Given the description of an element on the screen output the (x, y) to click on. 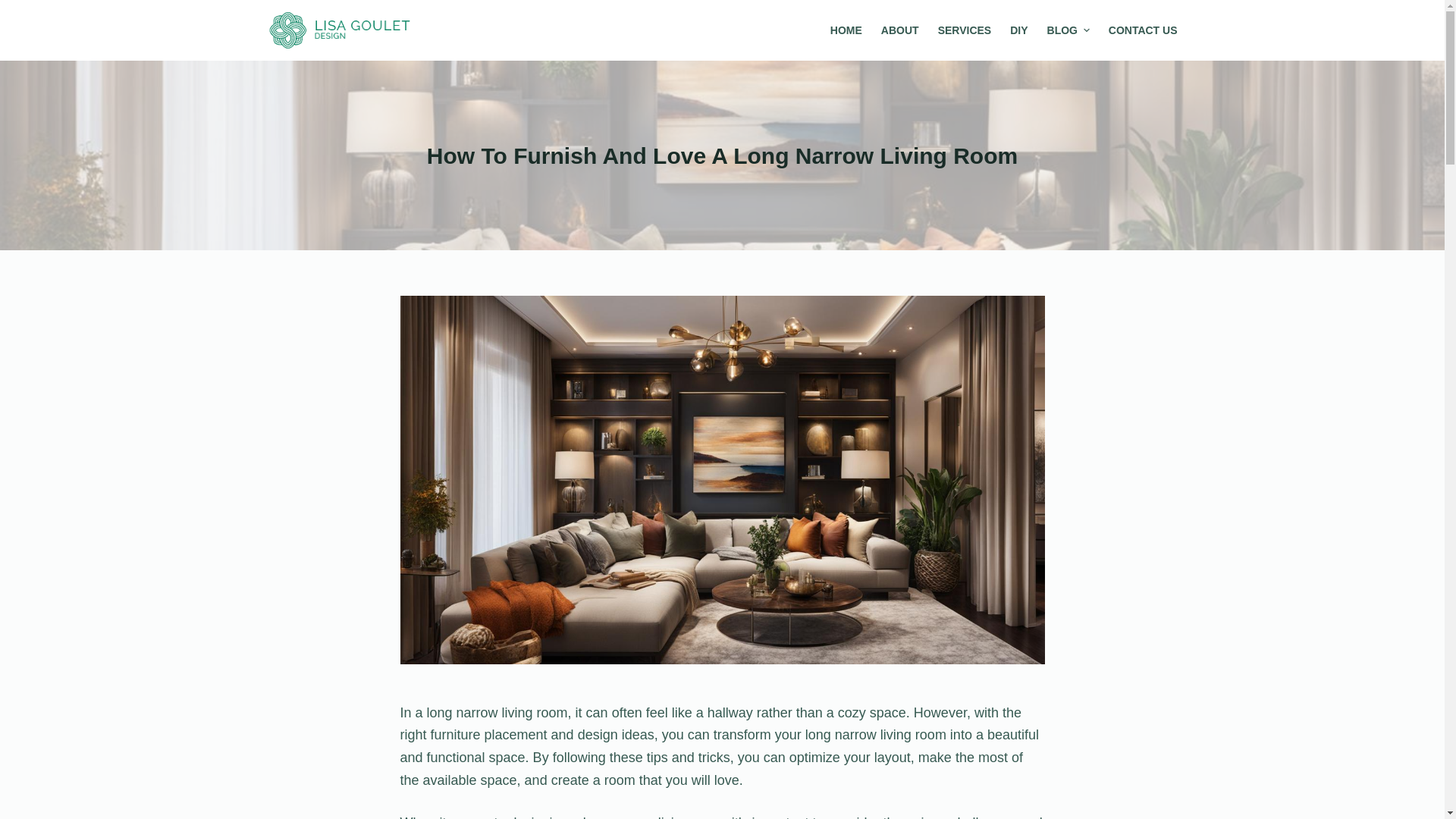
ABOUT (899, 30)
How To Furnish And Love A Long Narrow Living Room (722, 154)
SERVICES (964, 30)
BLOG (1067, 30)
Skip to content (15, 7)
CONTACT US (1137, 30)
